Given the description of an element on the screen output the (x, y) to click on. 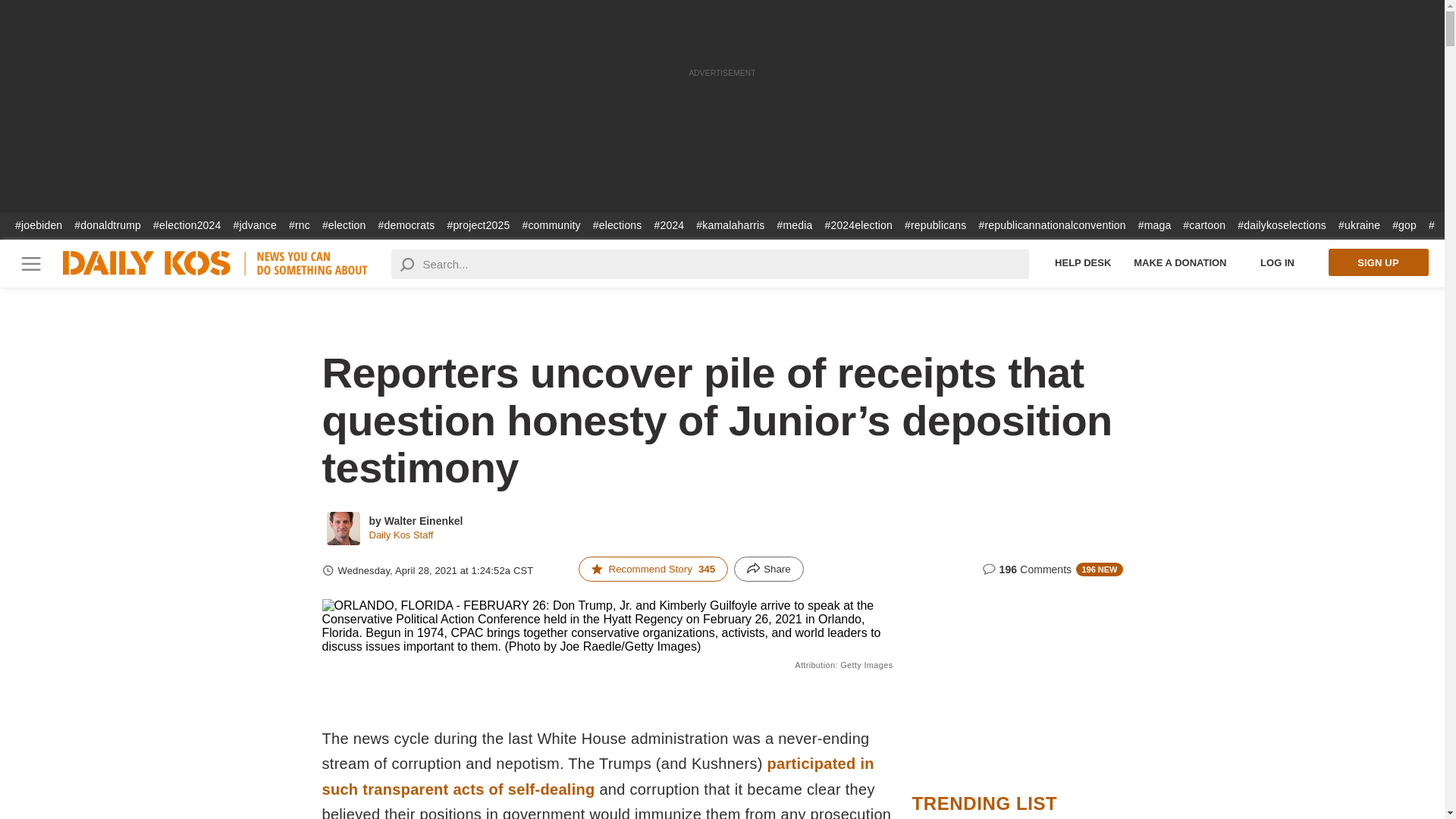
Make a Donation (1179, 262)
Help Desk (1082, 262)
MAKE A DONATION (1179, 262)
